Given the description of an element on the screen output the (x, y) to click on. 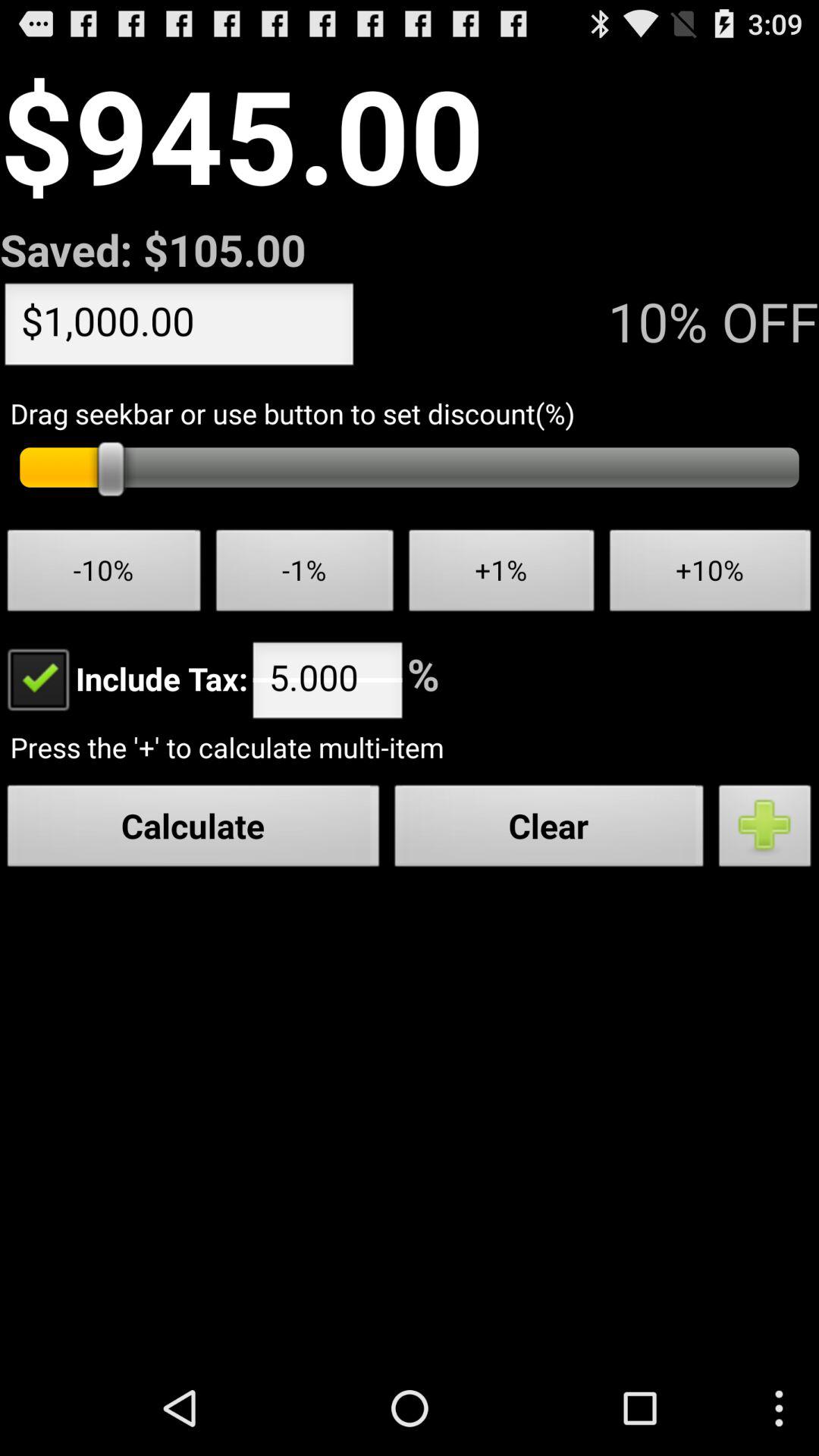
launch item below -10% item (123, 678)
